Given the description of an element on the screen output the (x, y) to click on. 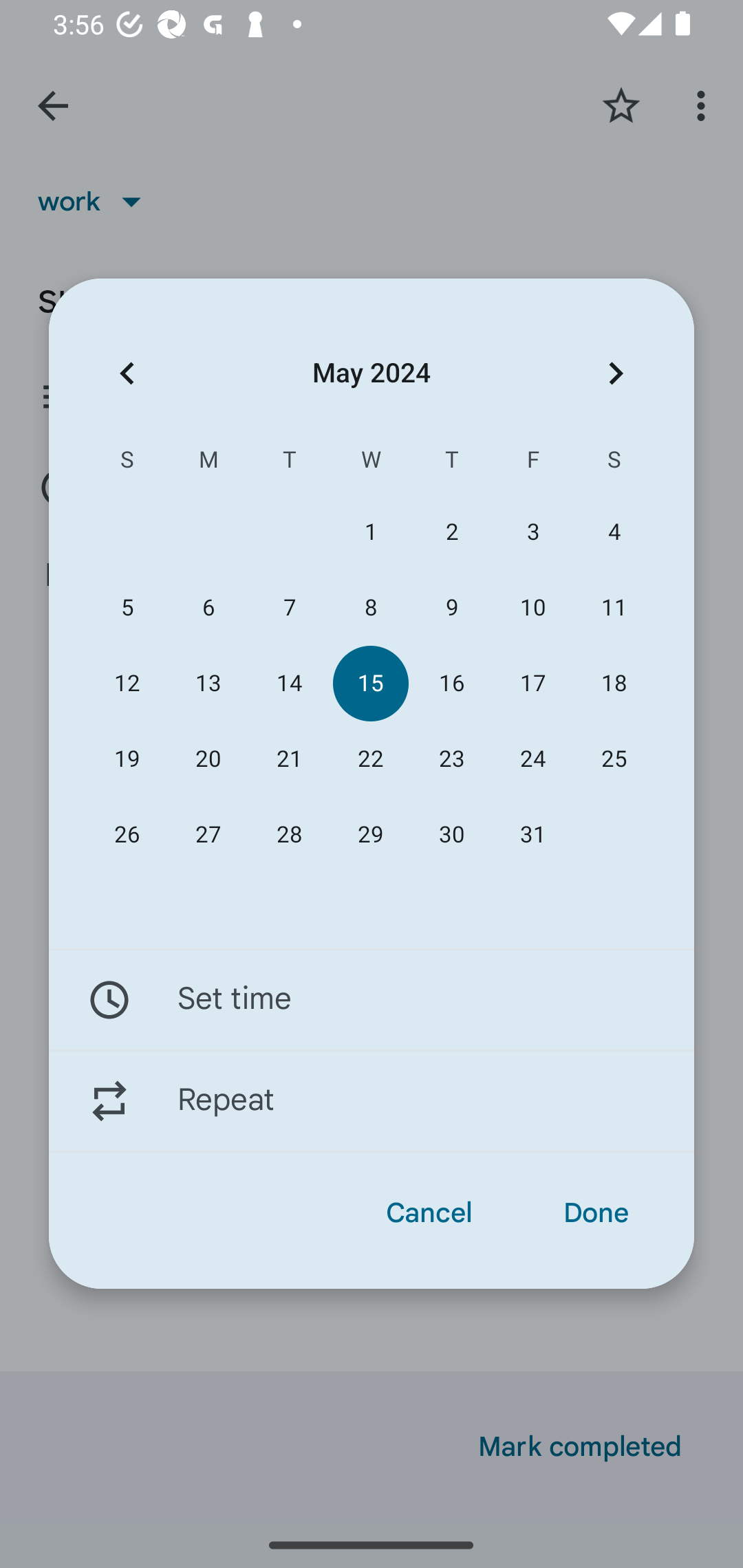
Previous month (126, 372)
Next month (615, 372)
1 01 May 2024 (370, 531)
2 02 May 2024 (451, 531)
3 03 May 2024 (532, 531)
4 04 May 2024 (613, 531)
5 05 May 2024 (126, 608)
6 06 May 2024 (207, 608)
7 07 May 2024 (288, 608)
8 08 May 2024 (370, 608)
9 09 May 2024 (451, 608)
10 10 May 2024 (532, 608)
11 11 May 2024 (613, 608)
12 12 May 2024 (126, 683)
13 13 May 2024 (207, 683)
14 14 May 2024 (288, 683)
15 15 May 2024 (370, 683)
16 16 May 2024 (451, 683)
17 17 May 2024 (532, 683)
18 18 May 2024 (613, 683)
19 19 May 2024 (126, 758)
20 20 May 2024 (207, 758)
21 21 May 2024 (288, 758)
22 22 May 2024 (370, 758)
23 23 May 2024 (451, 758)
24 24 May 2024 (532, 758)
25 25 May 2024 (613, 758)
26 26 May 2024 (126, 834)
27 27 May 2024 (207, 834)
28 28 May 2024 (288, 834)
29 29 May 2024 (370, 834)
30 30 May 2024 (451, 834)
31 31 May 2024 (532, 834)
Set time (371, 999)
Repeat (371, 1101)
Cancel (429, 1213)
Done (595, 1213)
